Given the description of an element on the screen output the (x, y) to click on. 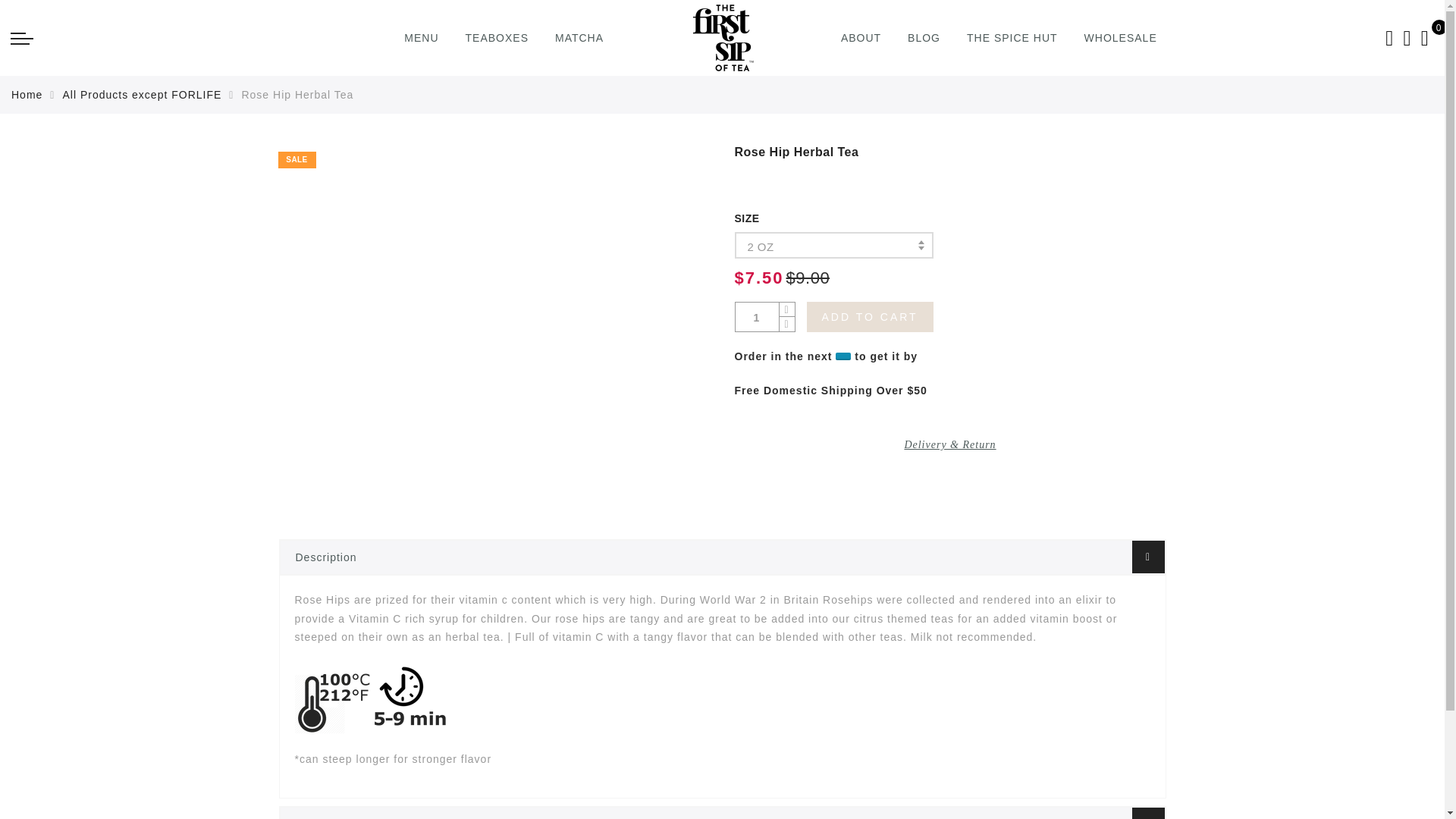
View your shopping cart (1425, 37)
MENU (421, 37)
1 (756, 317)
Qty (756, 317)
